Given the description of an element on the screen output the (x, y) to click on. 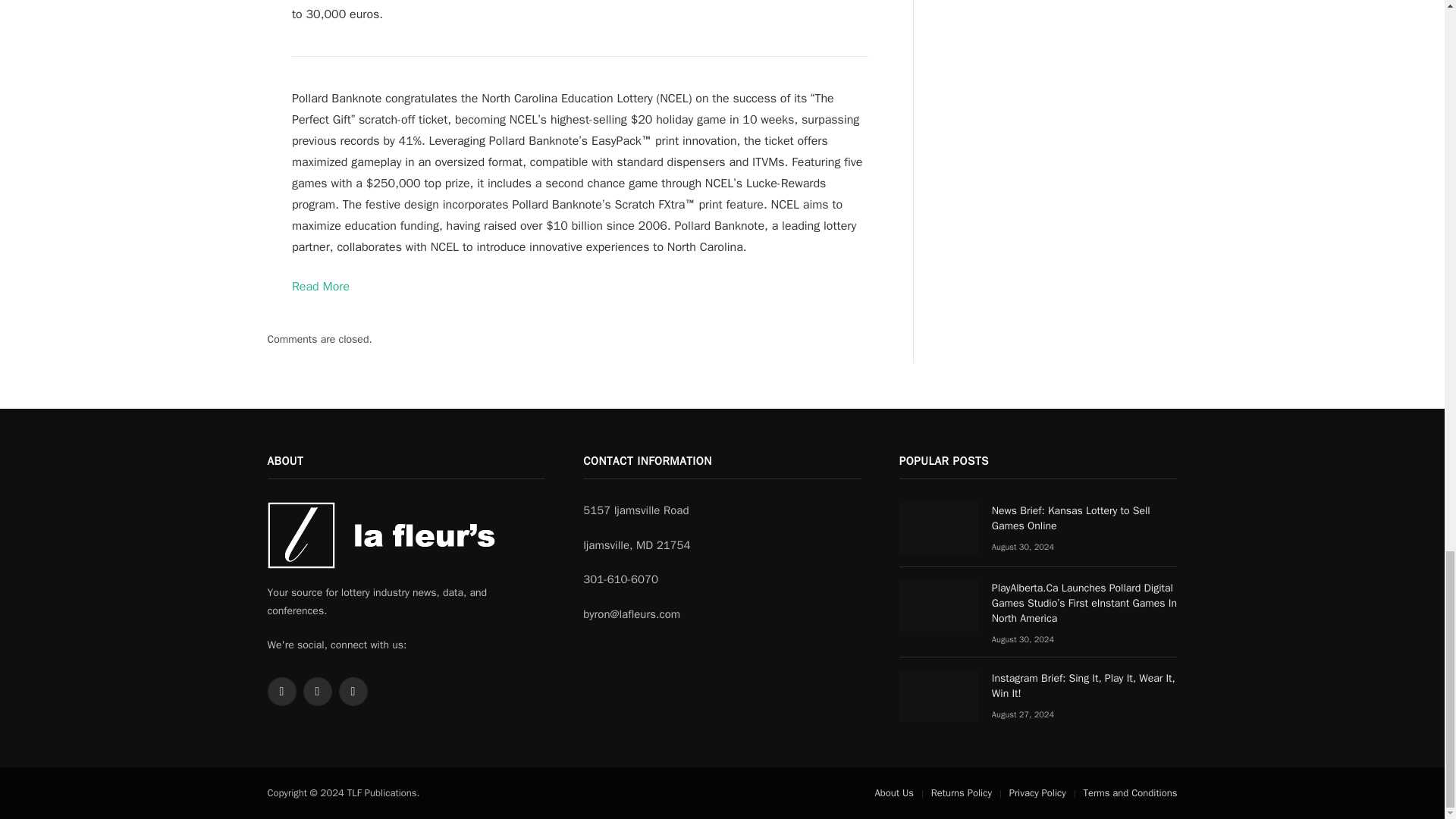
RSS (316, 691)
Twitter (280, 691)
Read More (320, 286)
